Given the description of an element on the screen output the (x, y) to click on. 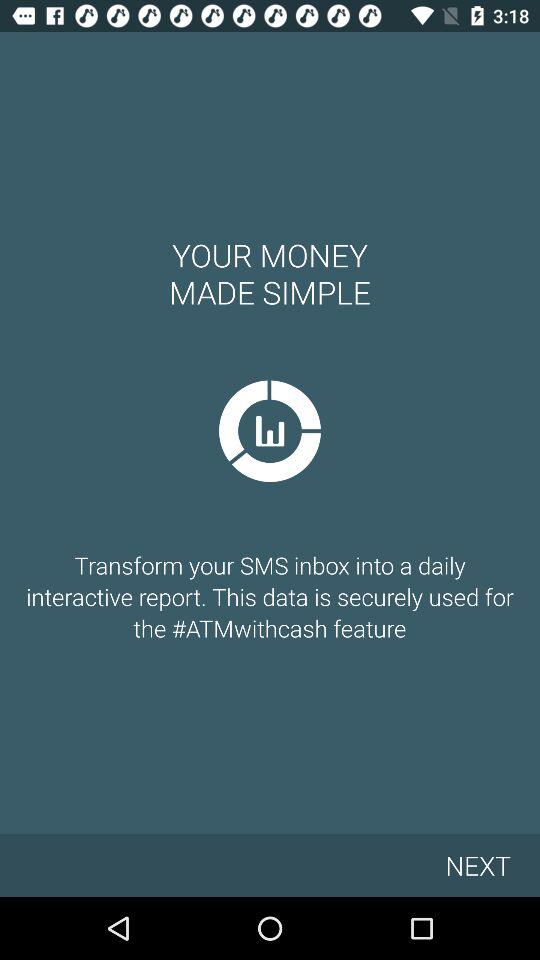
click the icon below transform your sms icon (478, 864)
